Given the description of an element on the screen output the (x, y) to click on. 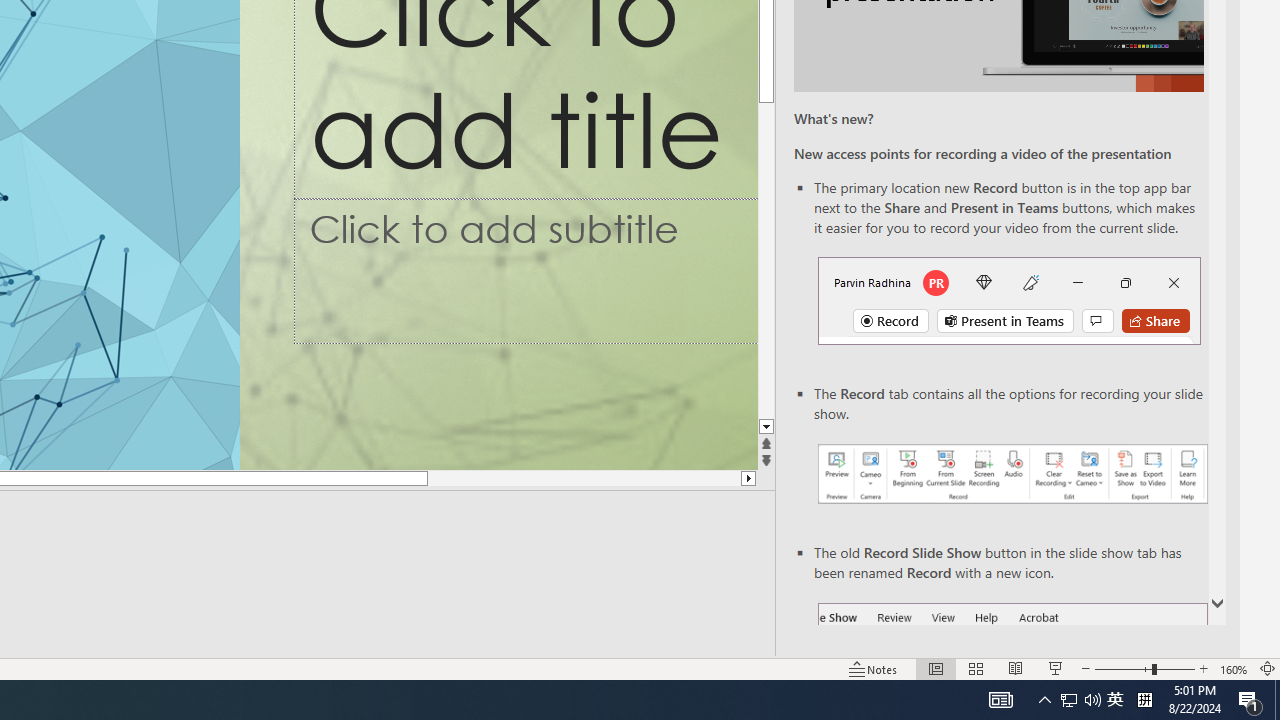
Zoom 160% (1234, 668)
